Given the description of an element on the screen output the (x, y) to click on. 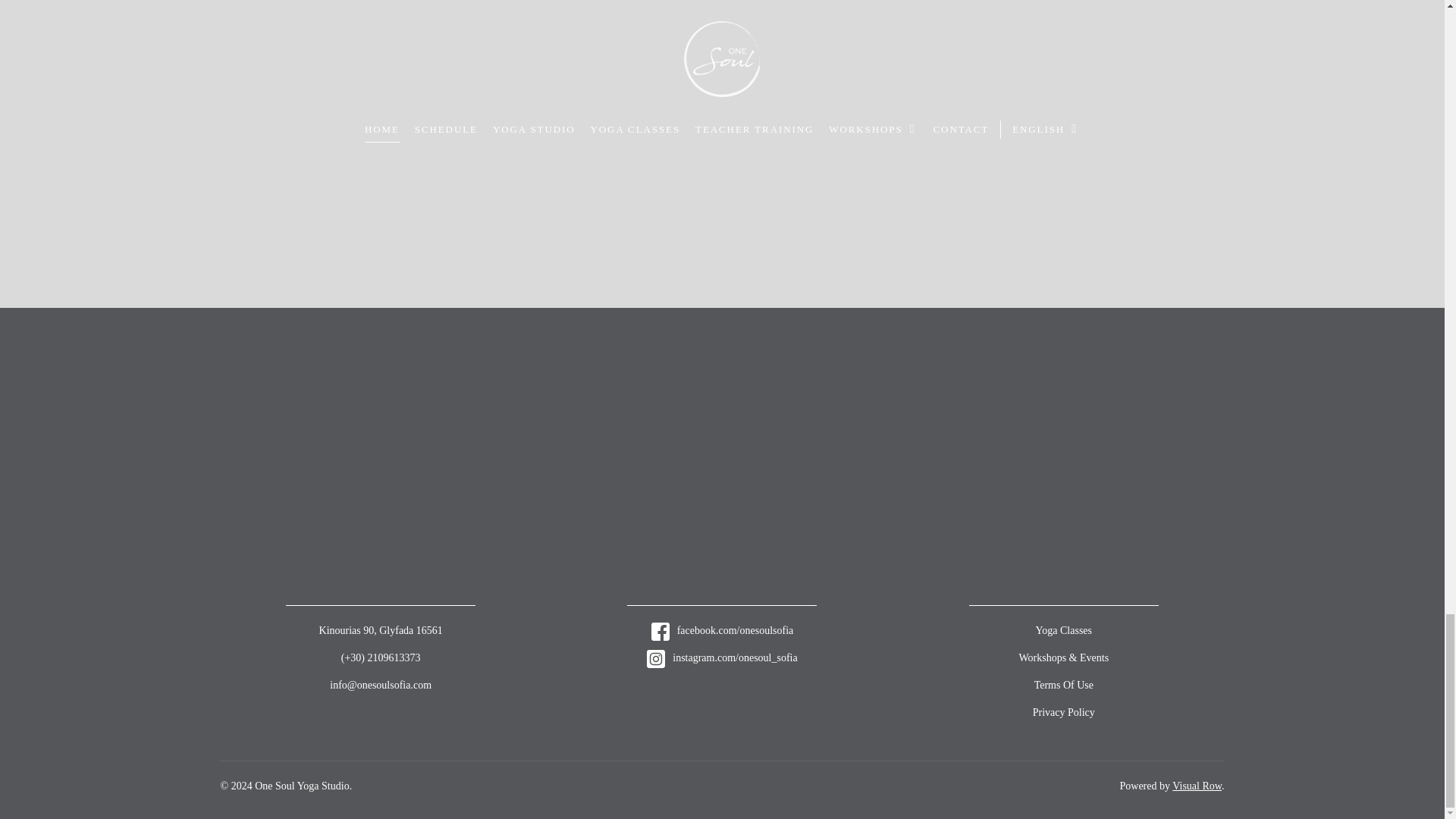
Terms Of Use (1063, 685)
Visual Row (1196, 785)
Yoga Classes (1063, 630)
Privacy Policy (1063, 712)
